Given the description of an element on the screen output the (x, y) to click on. 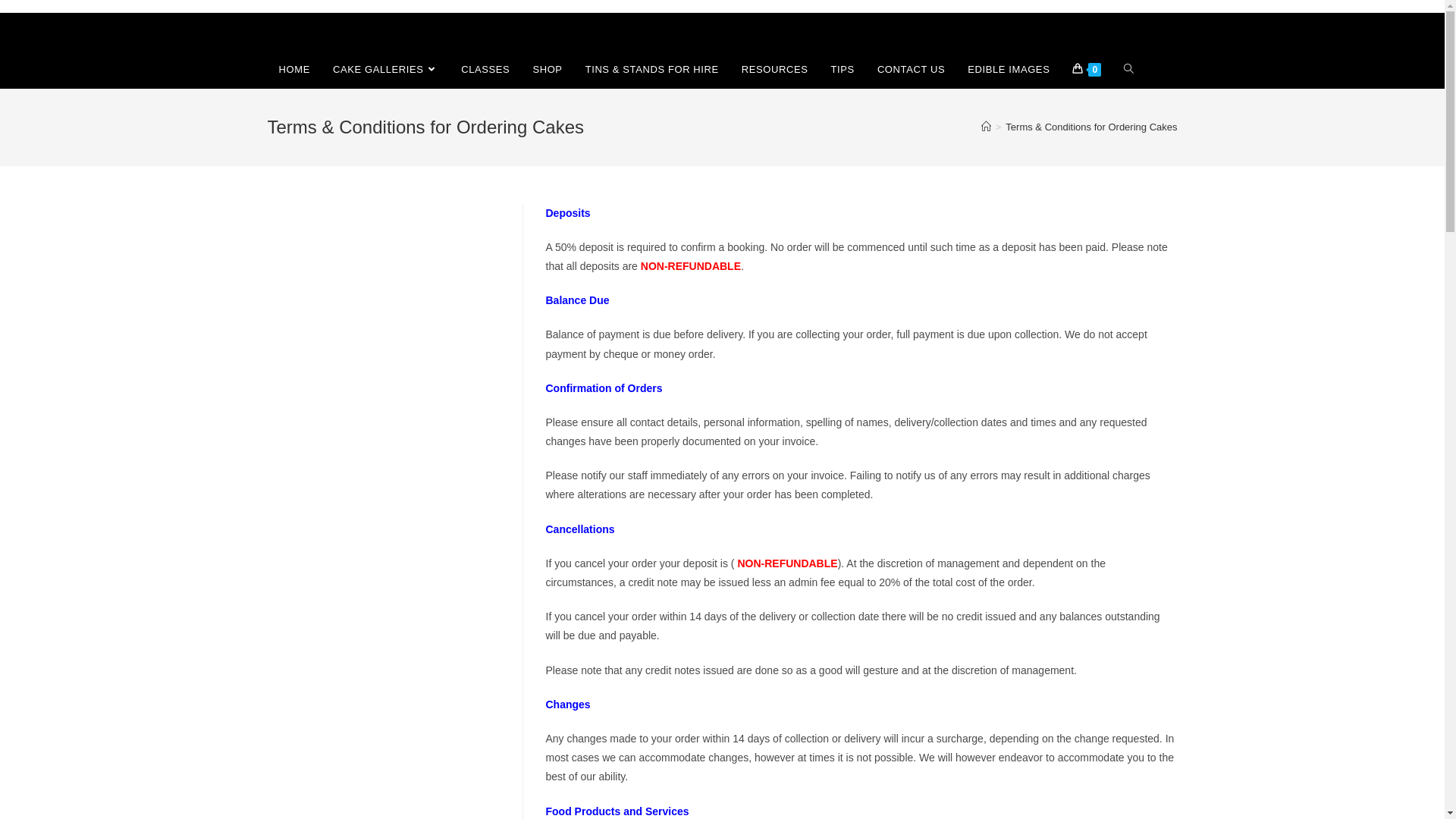
CLASSES Element type: text (484, 69)
0 Element type: text (1086, 69)
HOME Element type: text (293, 69)
Terms & Conditions for Ordering Cakes Element type: text (1090, 126)
CONTACT US Element type: text (911, 69)
SHOP Element type: text (546, 69)
TINS & STANDS FOR HIRE Element type: text (652, 69)
CAKE GALLERIES Element type: text (385, 69)
RESOURCES Element type: text (774, 69)
EDIBLE IMAGES Element type: text (1008, 69)
TIPS Element type: text (842, 69)
My Delicious Cake & Decorating Supplies Element type: text (336, 32)
